Given the description of an element on the screen output the (x, y) to click on. 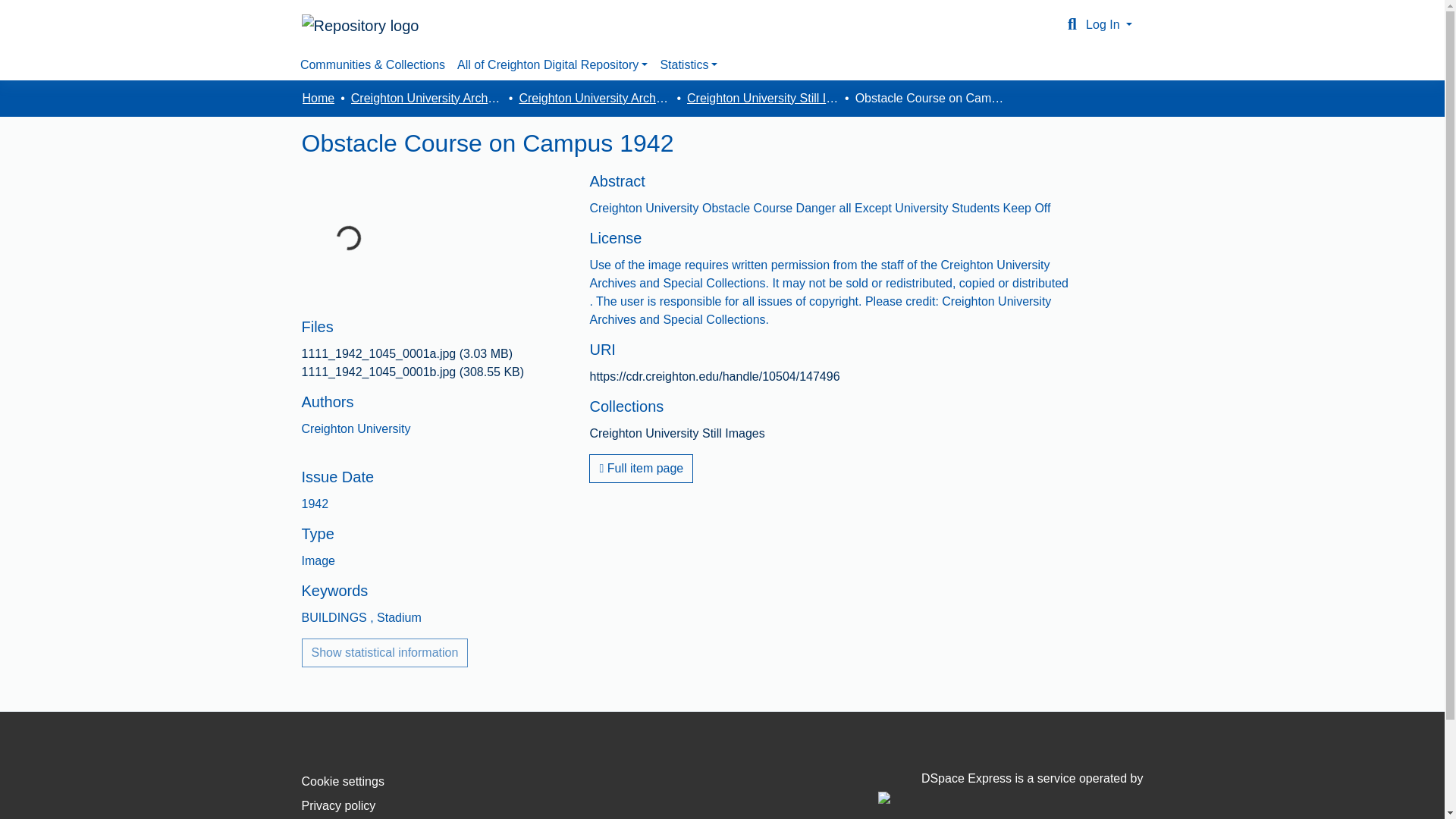
Search (1072, 24)
All of Creighton Digital Repository (552, 64)
Privacy policy (338, 805)
Log In (1108, 24)
Full item page (641, 468)
Creighton University Archives and Special Collections (426, 98)
Cookie settings (342, 780)
Show statistical information (384, 652)
Creighton University Still Images (676, 432)
Statistics (688, 64)
Creighton University Still Images (762, 98)
Creighton University Archives (593, 98)
DSpace Express is a service operated by (1009, 787)
Home (317, 98)
